Given the description of an element on the screen output the (x, y) to click on. 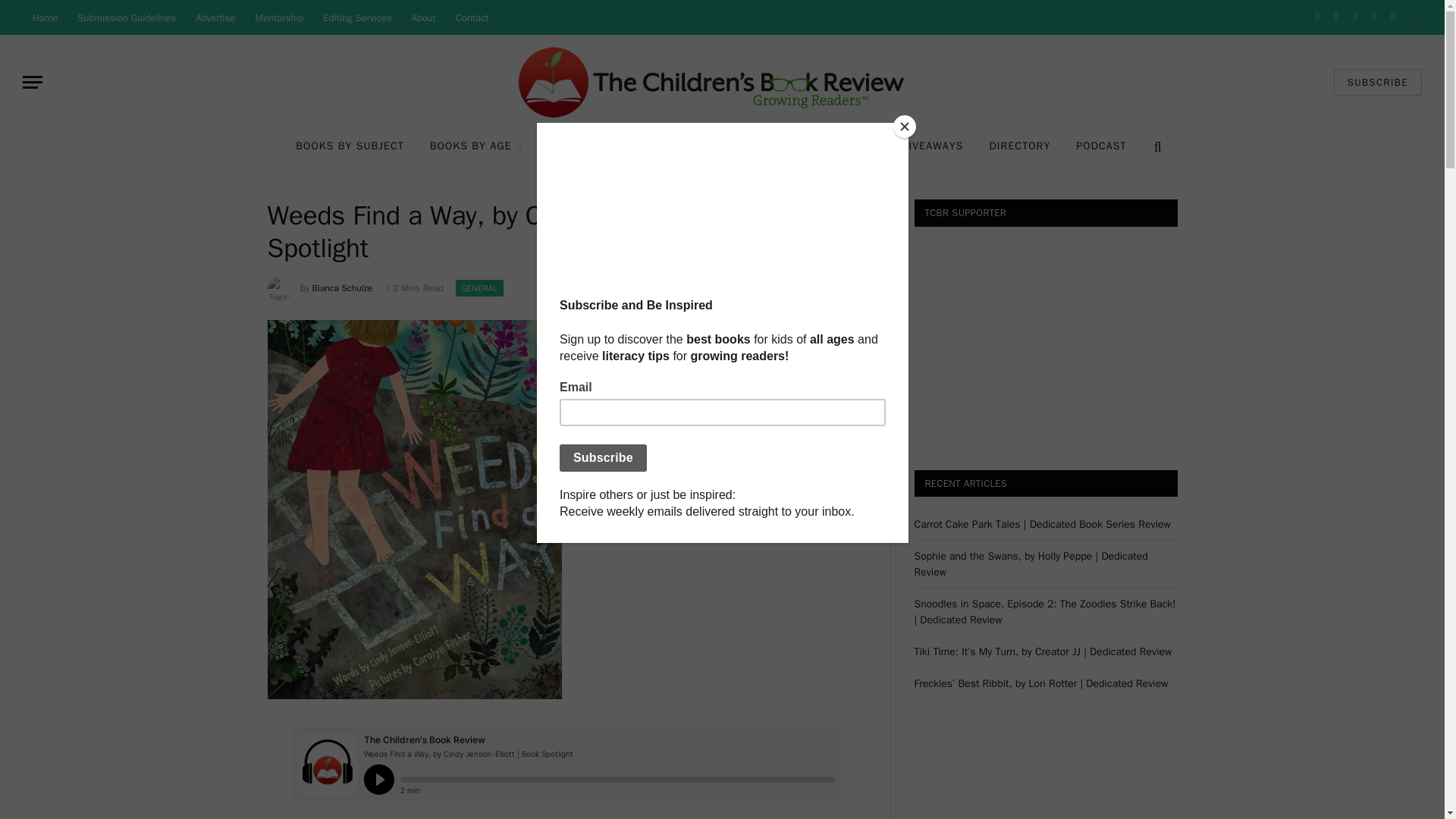
Home (44, 17)
BOOKS BY AGE (475, 146)
SUBSCRIBE (1377, 81)
FAVORITES (582, 146)
Advertise (215, 17)
About (423, 17)
Mentorship (280, 17)
BOOKS BY SUBJECT (349, 146)
Posts by Bianca Schulze (342, 287)
The Children's Book Review (722, 82)
Contact (472, 17)
Editing Services (357, 17)
Submission Guidelines (126, 17)
